Given the description of an element on the screen output the (x, y) to click on. 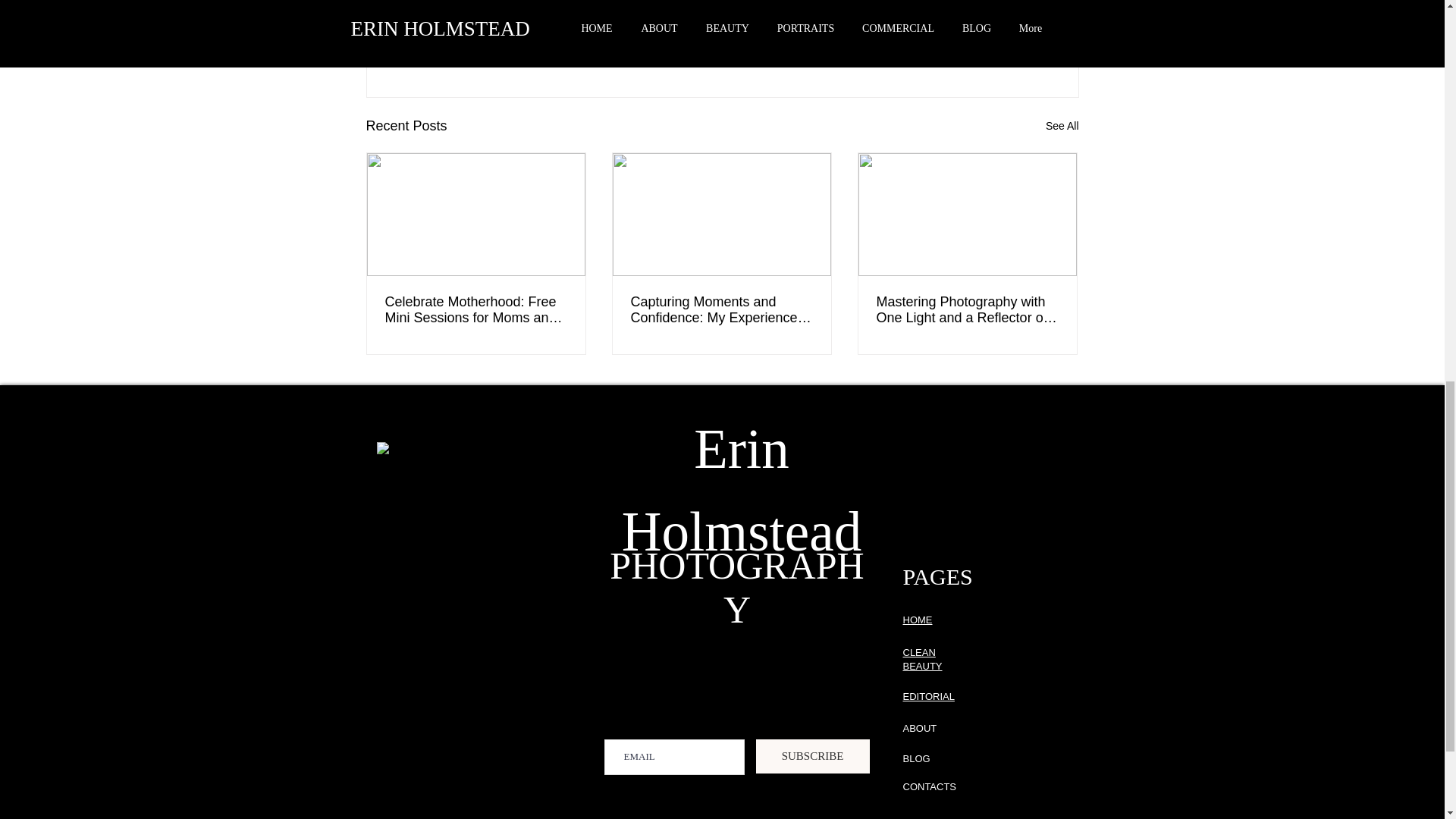
EDITORIAL (927, 696)
ABOUT (919, 727)
HOME (916, 619)
CLEAN BEAUTY (922, 659)
See All (1061, 126)
SUBSCRIBE (812, 756)
BLOG (916, 758)
CONTACTS (929, 786)
Erin Holmstead (741, 488)
